Given the description of an element on the screen output the (x, y) to click on. 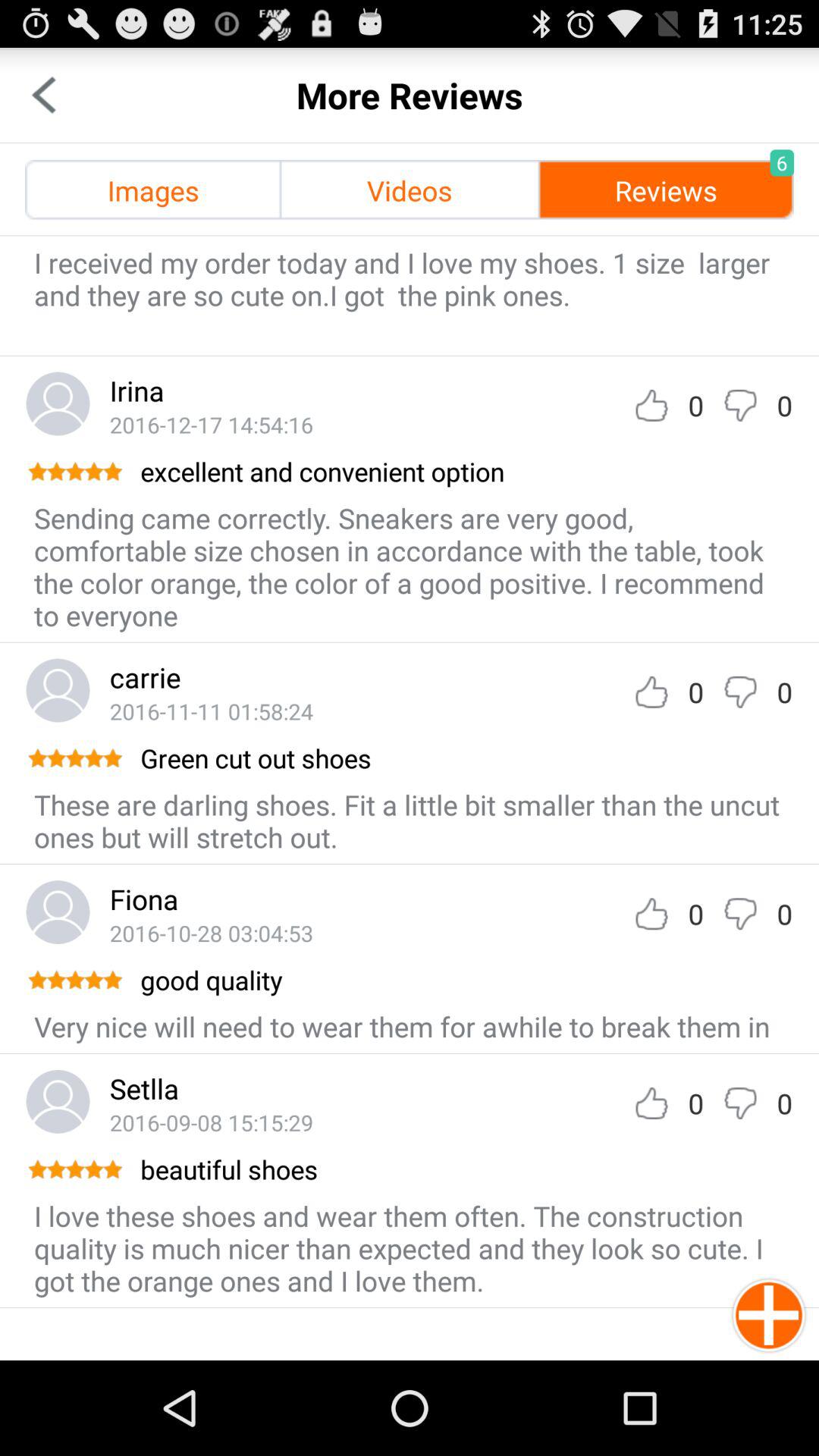
votes down the comment listed (740, 1103)
